Given the description of an element on the screen output the (x, y) to click on. 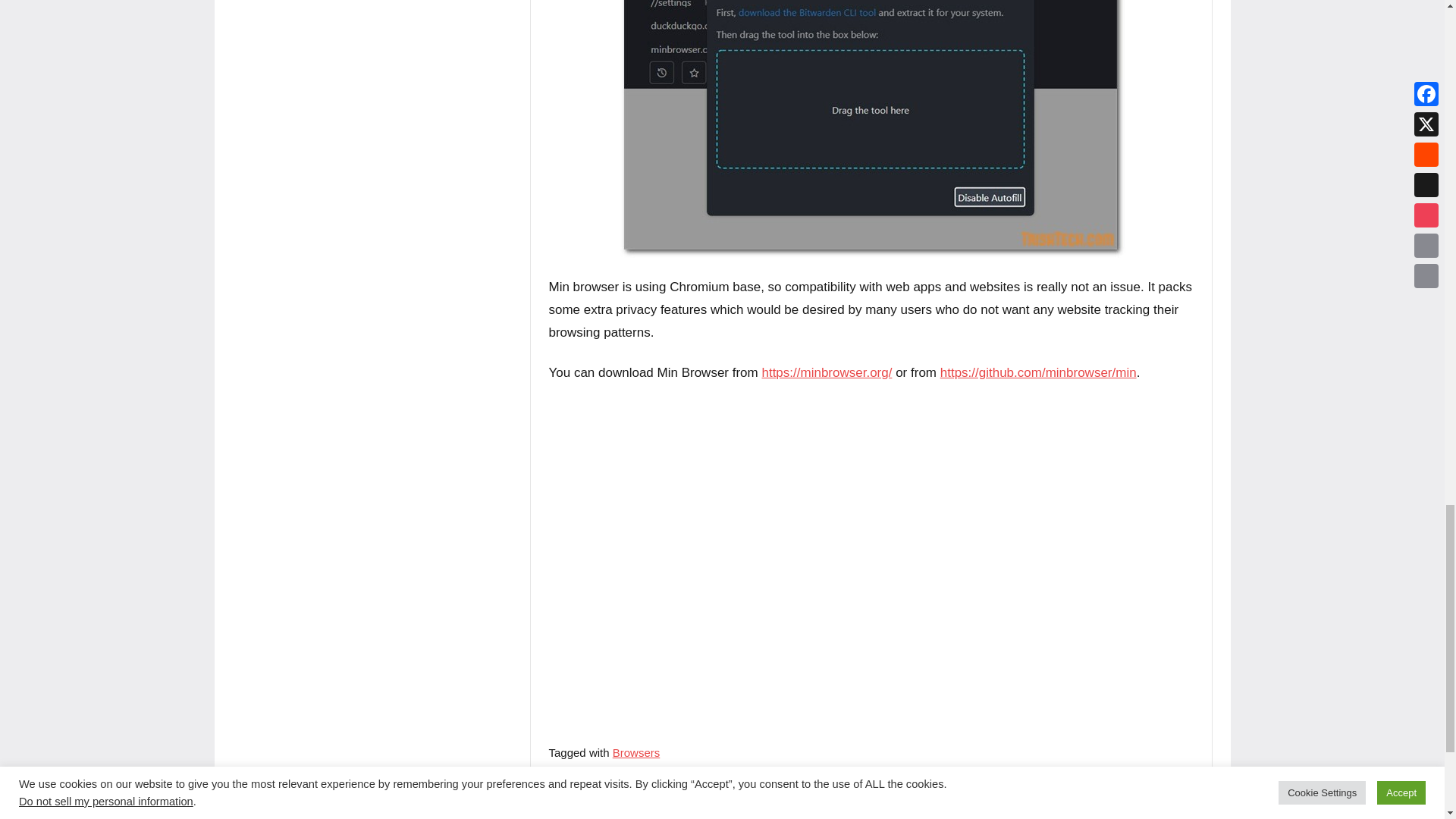
Browsers (636, 752)
Internet (577, 795)
